Given the description of an element on the screen output the (x, y) to click on. 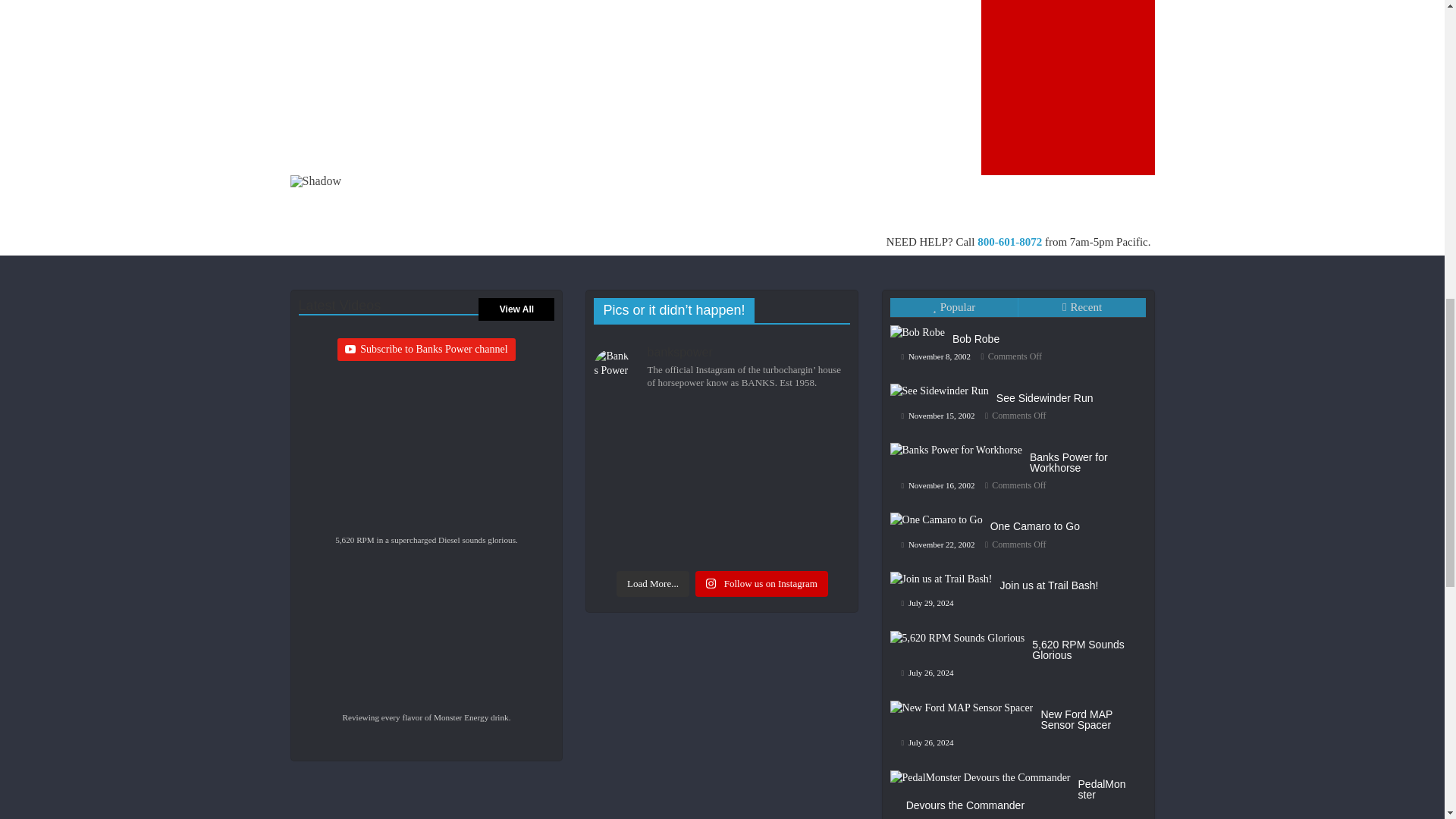
12:00 am (1030, 407)
Bob Robe (942, 376)
Bob Robe (938, 410)
Bob Robe (1019, 390)
